Given the description of an element on the screen output the (x, y) to click on. 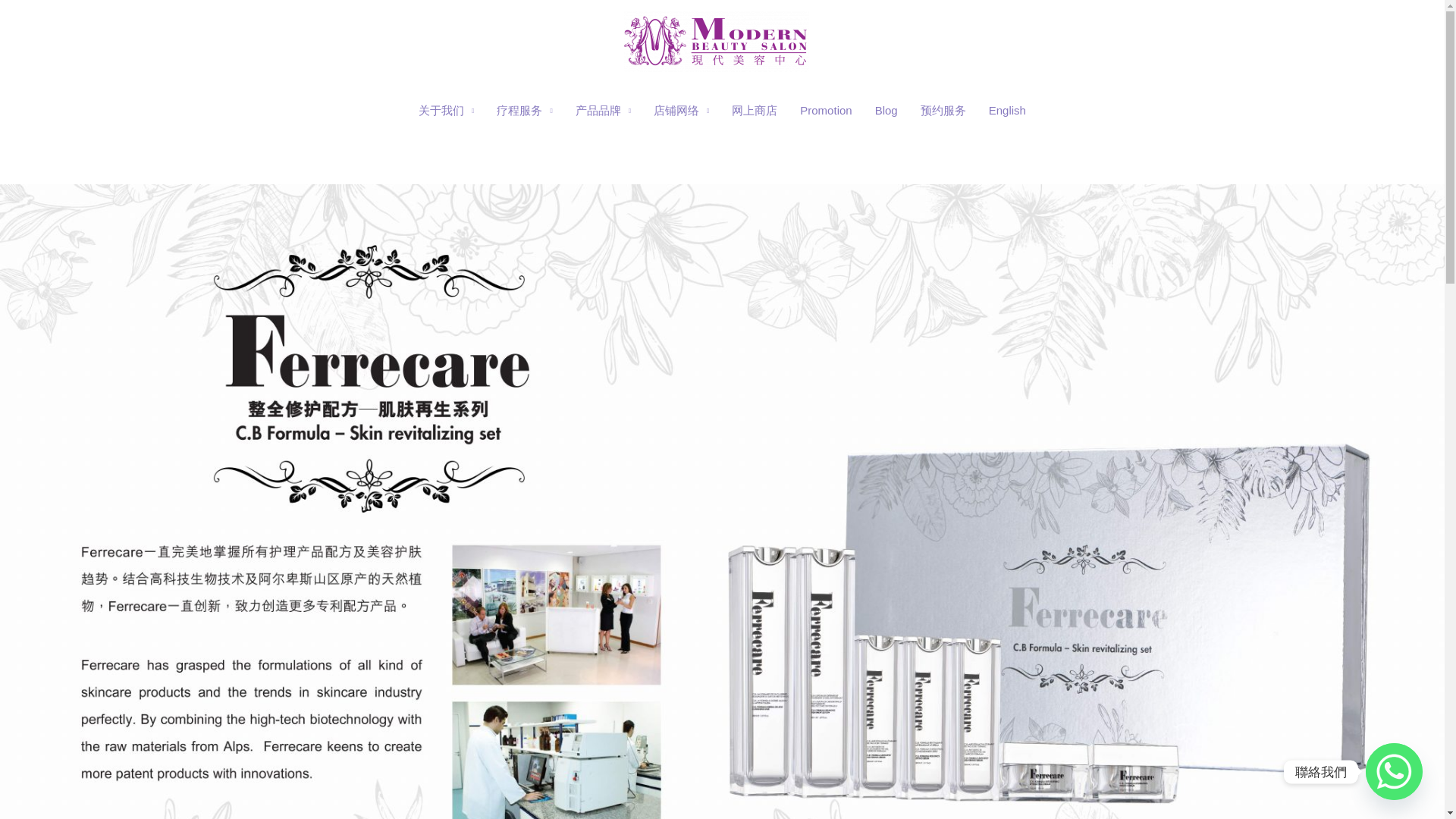
Promotion (826, 110)
English (1006, 110)
